Given the description of an element on the screen output the (x, y) to click on. 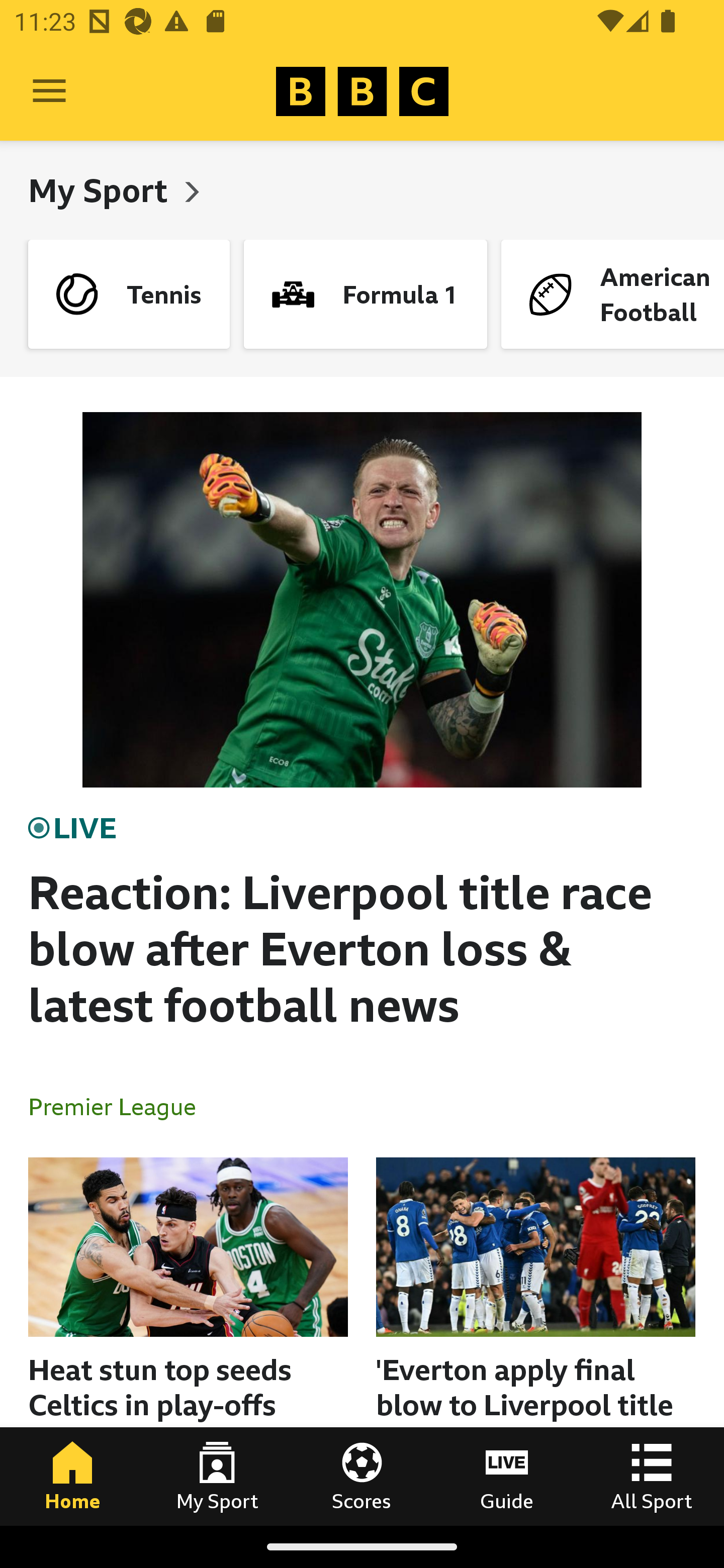
Open Menu (49, 91)
My Sport (101, 190)
Premier League In the section Premier League (119, 1106)
My Sport (216, 1475)
Scores (361, 1475)
Guide (506, 1475)
All Sport (651, 1475)
